Given the description of an element on the screen output the (x, y) to click on. 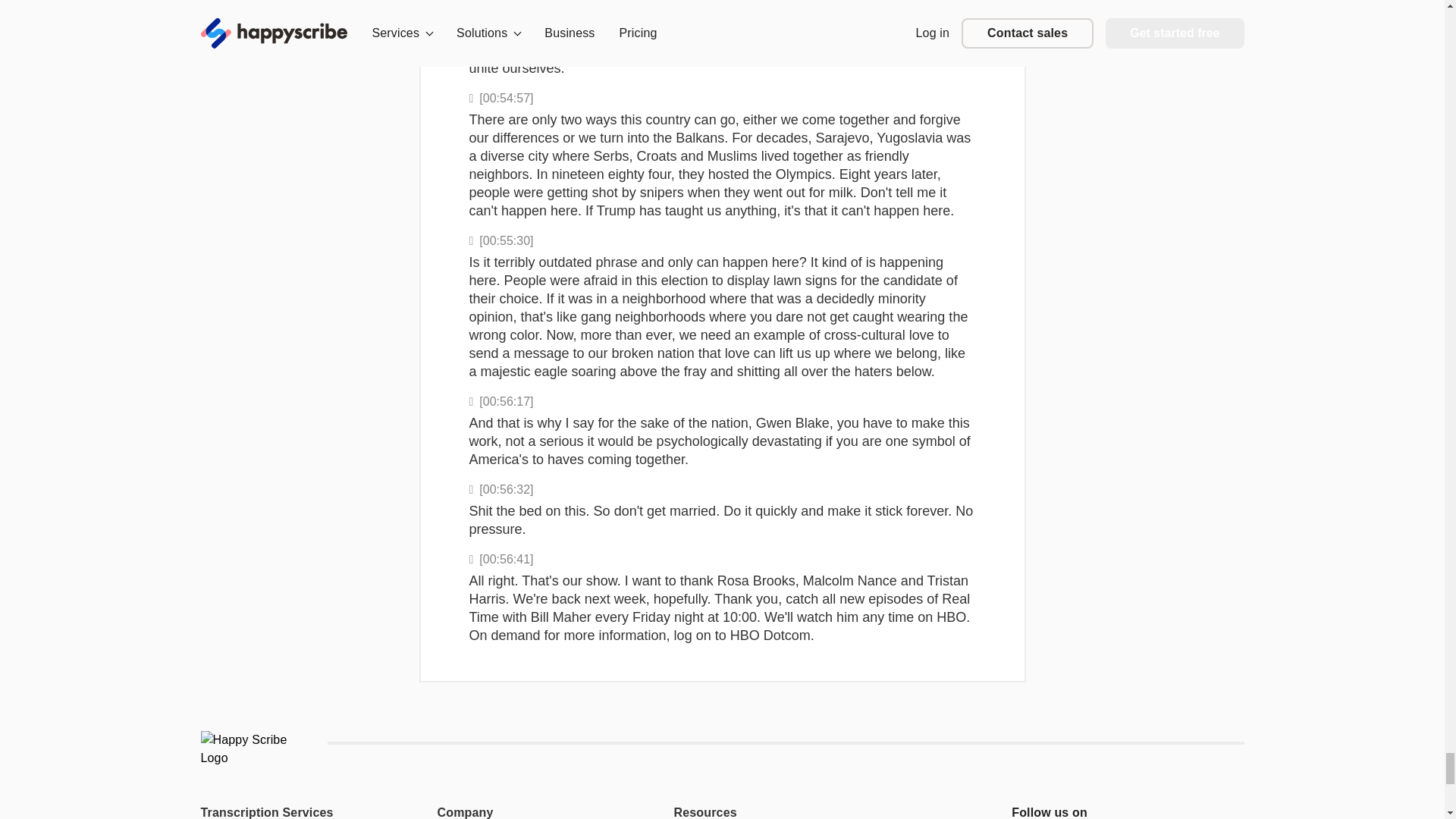
Transcription Services (286, 811)
